Given the description of an element on the screen output the (x, y) to click on. 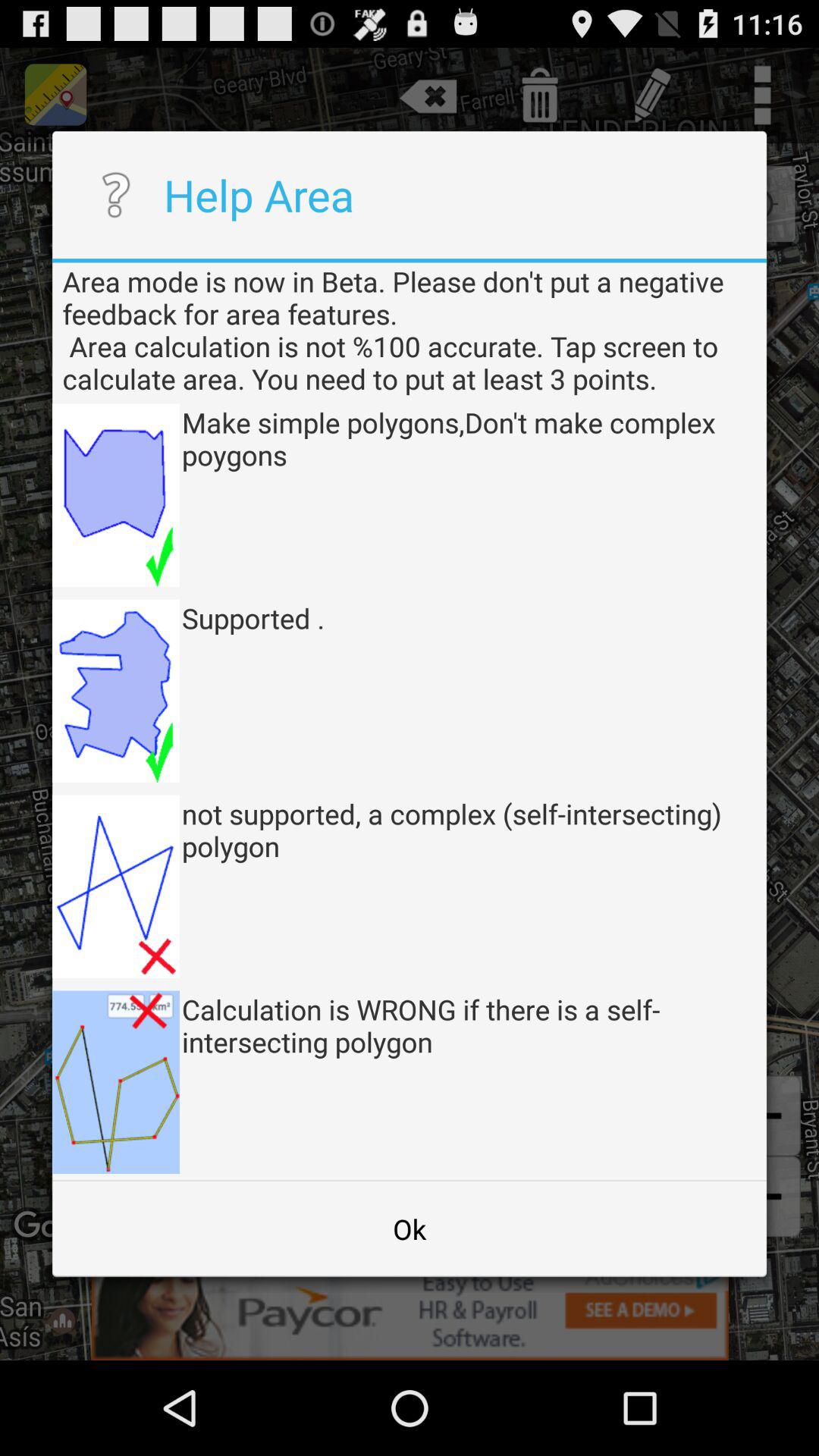
jump until the ok (409, 1228)
